Given the description of an element on the screen output the (x, y) to click on. 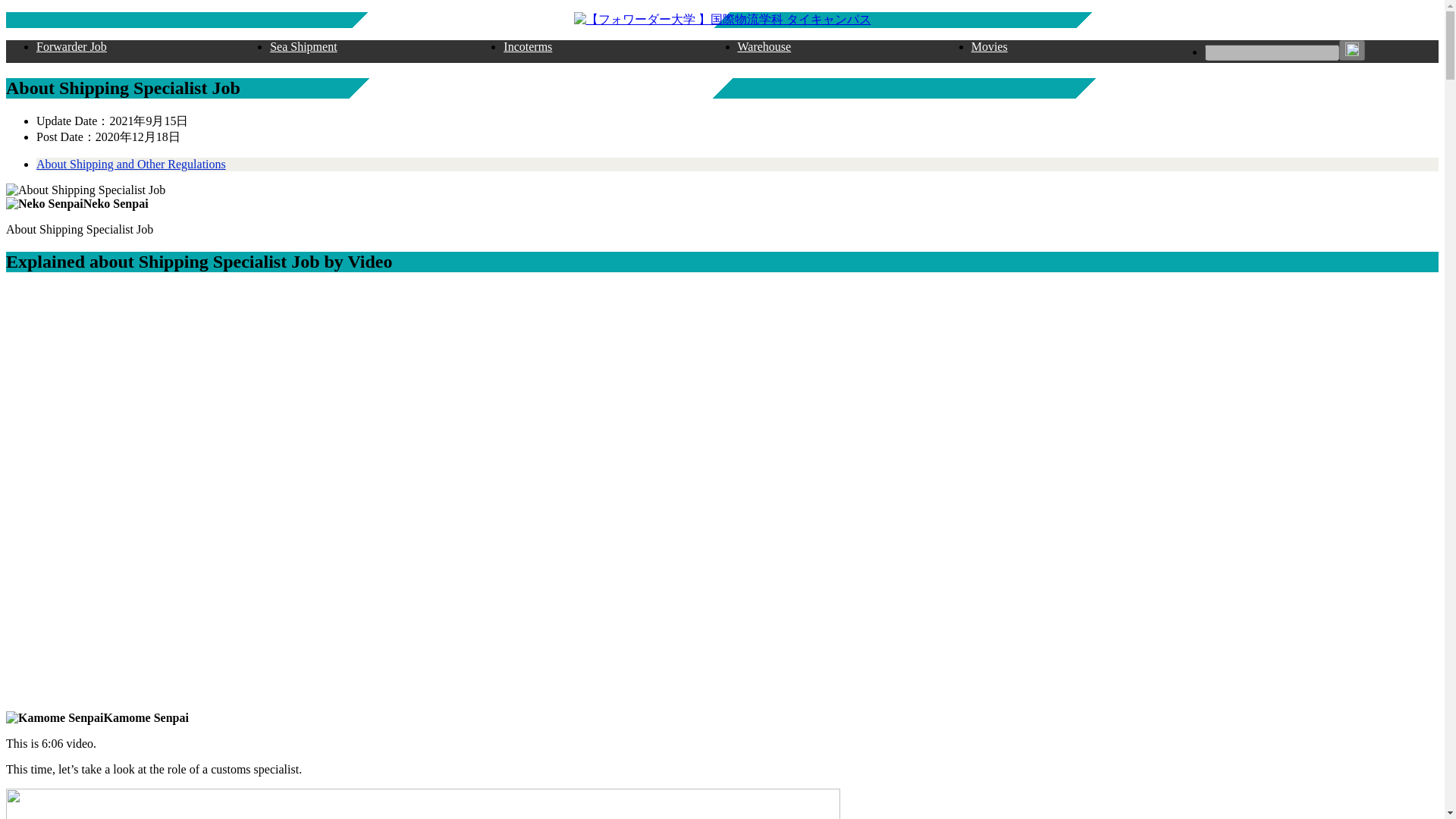
Warehouse (765, 47)
About Shipping and Other Regulations (130, 164)
Incoterms (527, 47)
Movies (989, 47)
Sea Shipment (302, 47)
Forwarder Job (71, 47)
